Given the description of an element on the screen output the (x, y) to click on. 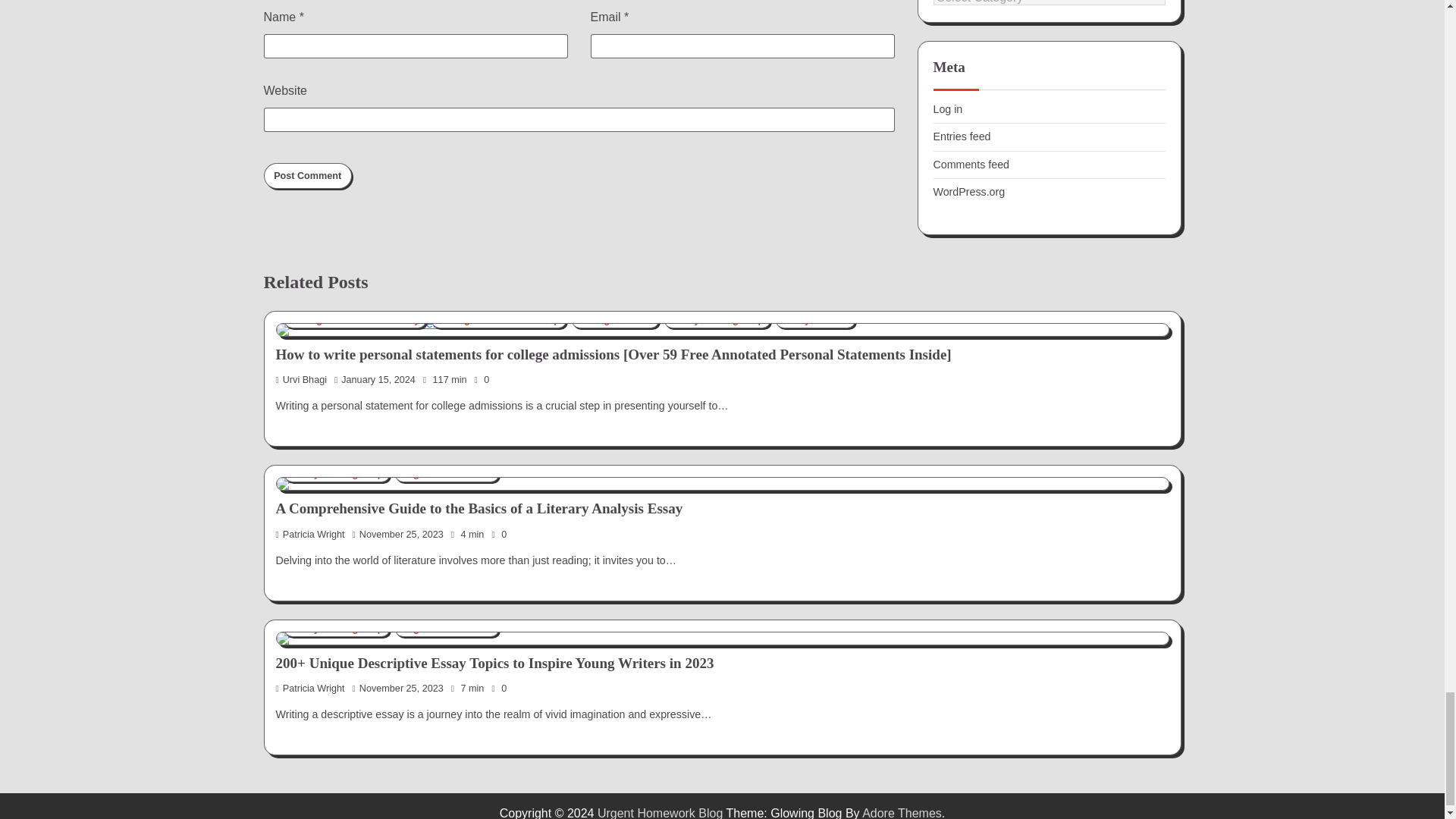
Post Comment (307, 175)
study abroad (816, 320)
College Bound (615, 320)
College Admission Essay (354, 320)
College Admission Help (498, 320)
Post Comment (307, 175)
essay writing help (716, 320)
